Given the description of an element on the screen output the (x, y) to click on. 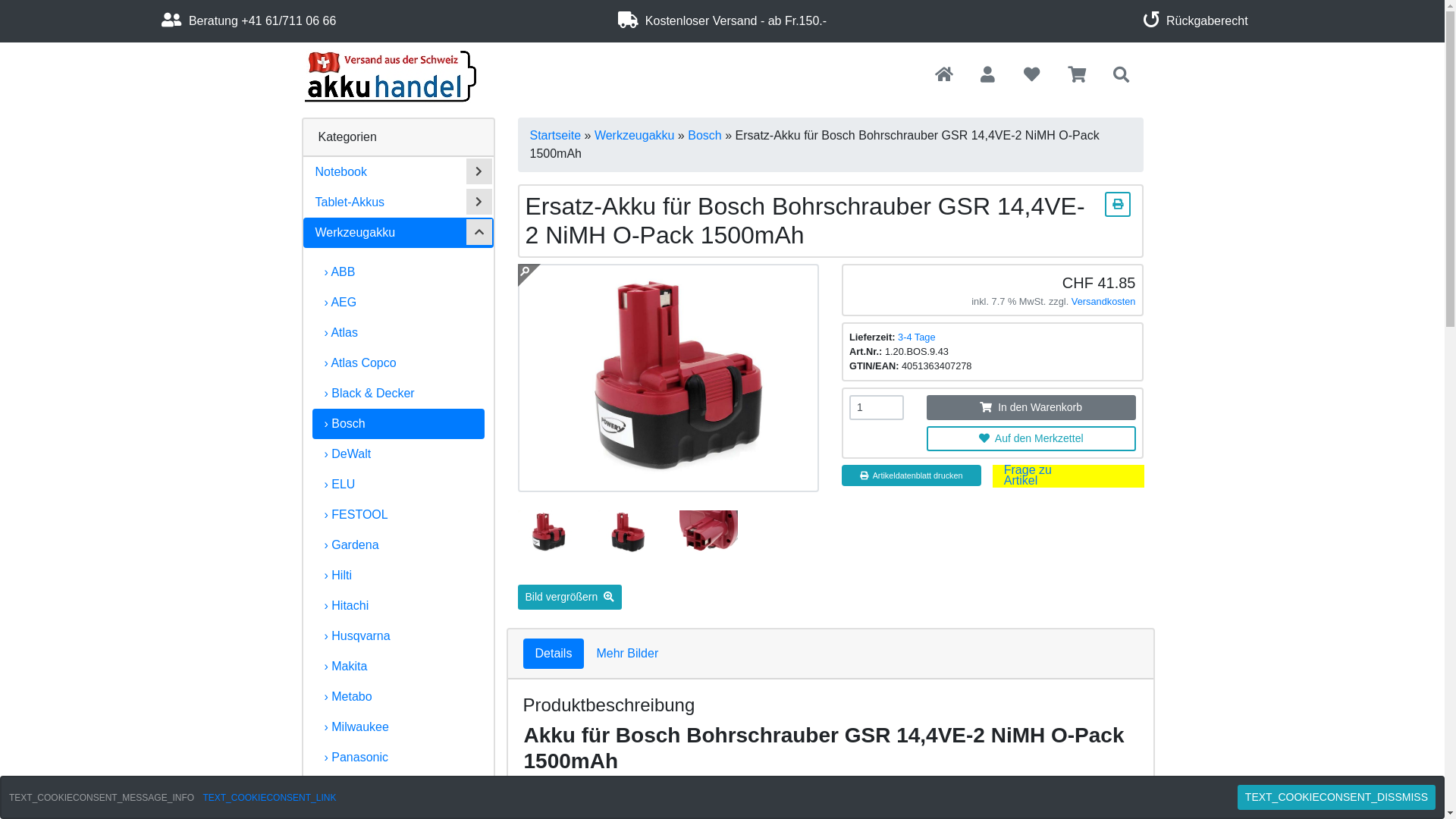
  In den Warenkorb Element type: text (1030, 407)
  Beratung +41 61/711 06 66 Element type: text (248, 20)
Artikeldatenblatt drucken Element type: hover (1116, 202)
Frage zu Artikel Element type: text (1027, 474)
Merkzettel Element type: hover (1032, 75)
Startseite Element type: text (554, 134)
  Artikeldatenblatt drucken Element type: text (911, 475)
Mehr Bilder Element type: text (626, 653)
Suche Element type: hover (1120, 75)
Werkzeugakku Element type: text (634, 134)
TEXT_COOKIECONSENT_LINK Element type: text (269, 796)
Tablet-Akkus Element type: text (398, 202)
  Kostenloser Versand - ab Fr.150.- Element type: text (722, 20)
3-4 Tage Element type: text (916, 336)
Bosch Element type: text (704, 134)
Notebook Element type: text (398, 171)
Mein Konto Element type: hover (987, 75)
  Auf den Merkzettel Element type: text (1030, 438)
Warenkorb Element type: hover (1076, 75)
Werkzeugakku Element type: text (398, 232)
Versandkosten Element type: text (1103, 301)
Details Element type: text (553, 653)
Startseite Element type: hover (943, 75)
TEXT_COOKIECONSENT_DISSMISS Element type: text (1336, 796)
